Given the description of an element on the screen output the (x, y) to click on. 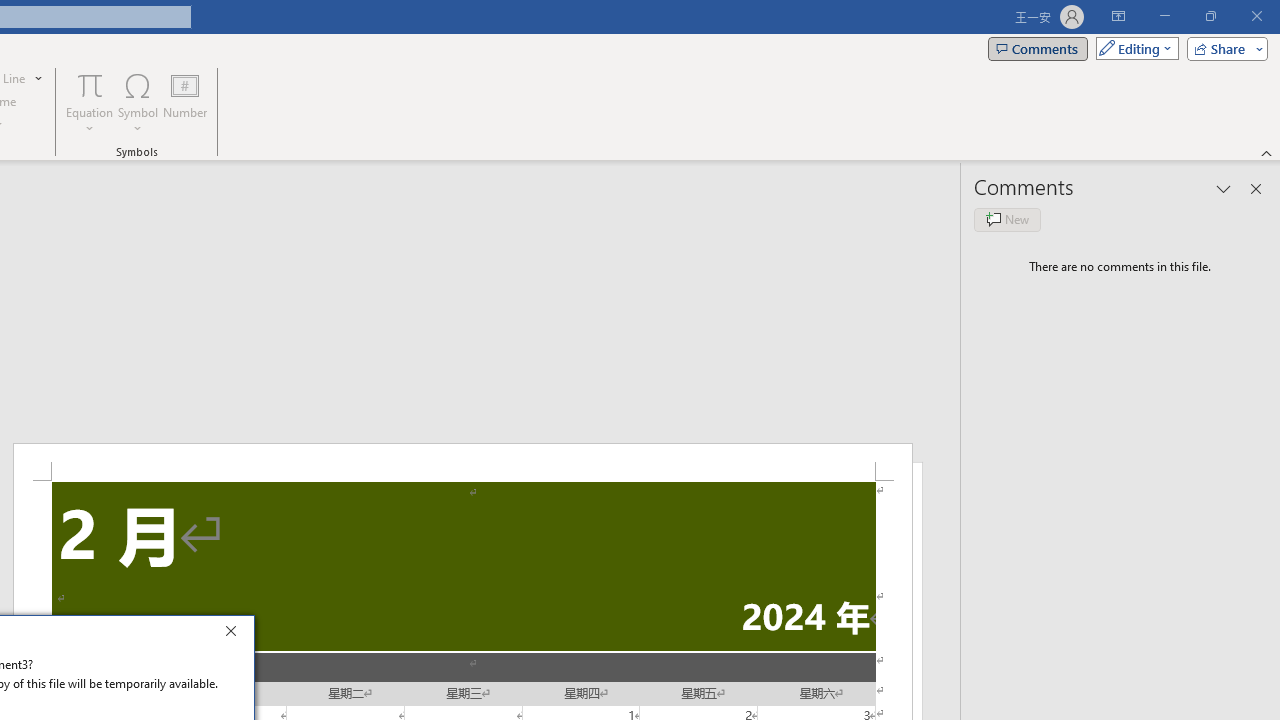
Mode (1133, 47)
Number... (185, 102)
Share (1223, 48)
